Given the description of an element on the screen output the (x, y) to click on. 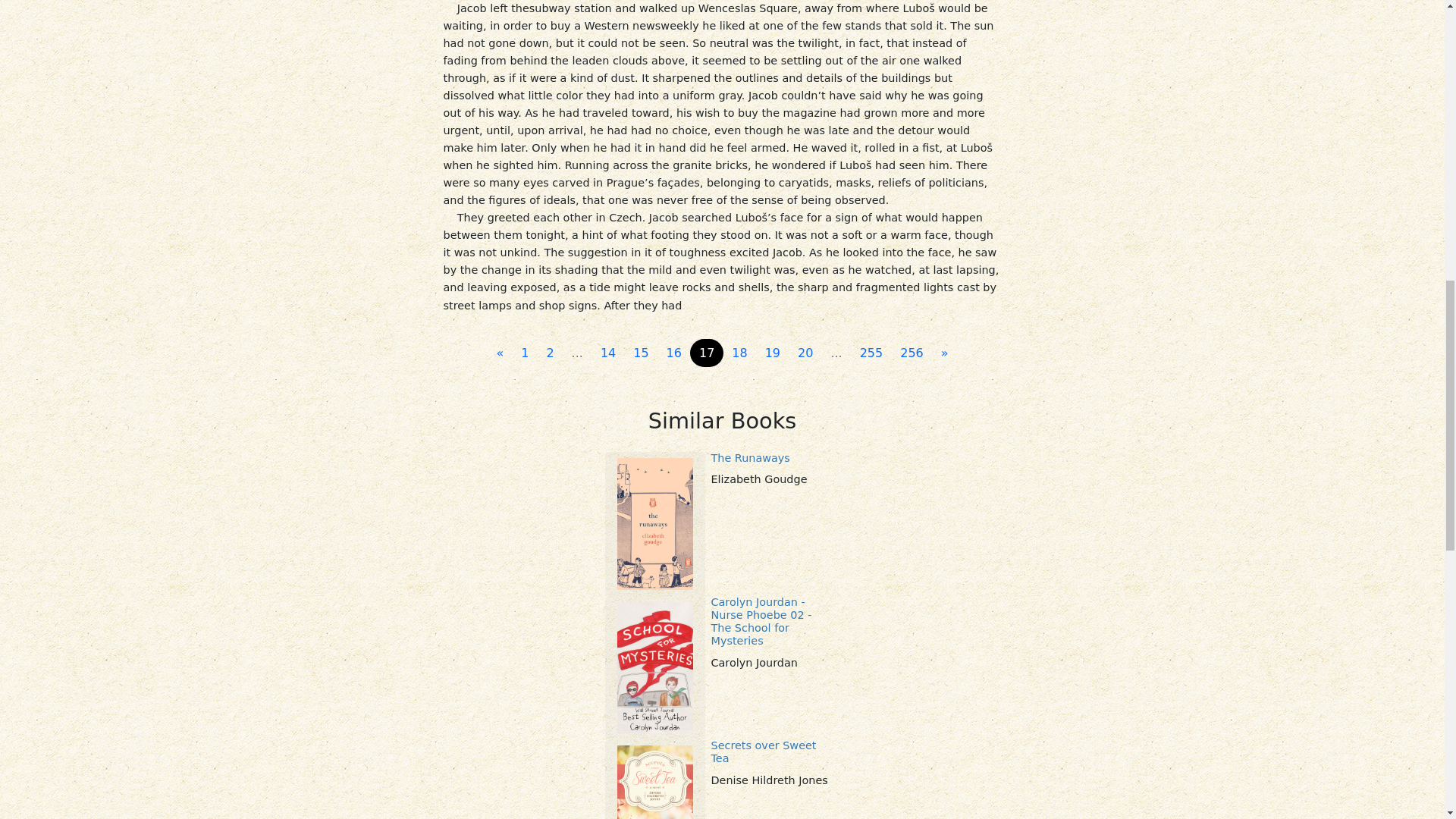
17 (706, 353)
19 (772, 353)
20 (805, 353)
255 (871, 353)
16 (674, 353)
2 (549, 353)
15 (641, 353)
... (835, 353)
18 (738, 353)
1 (524, 353)
256 (912, 353)
... (577, 353)
14 (607, 353)
